Given the description of an element on the screen output the (x, y) to click on. 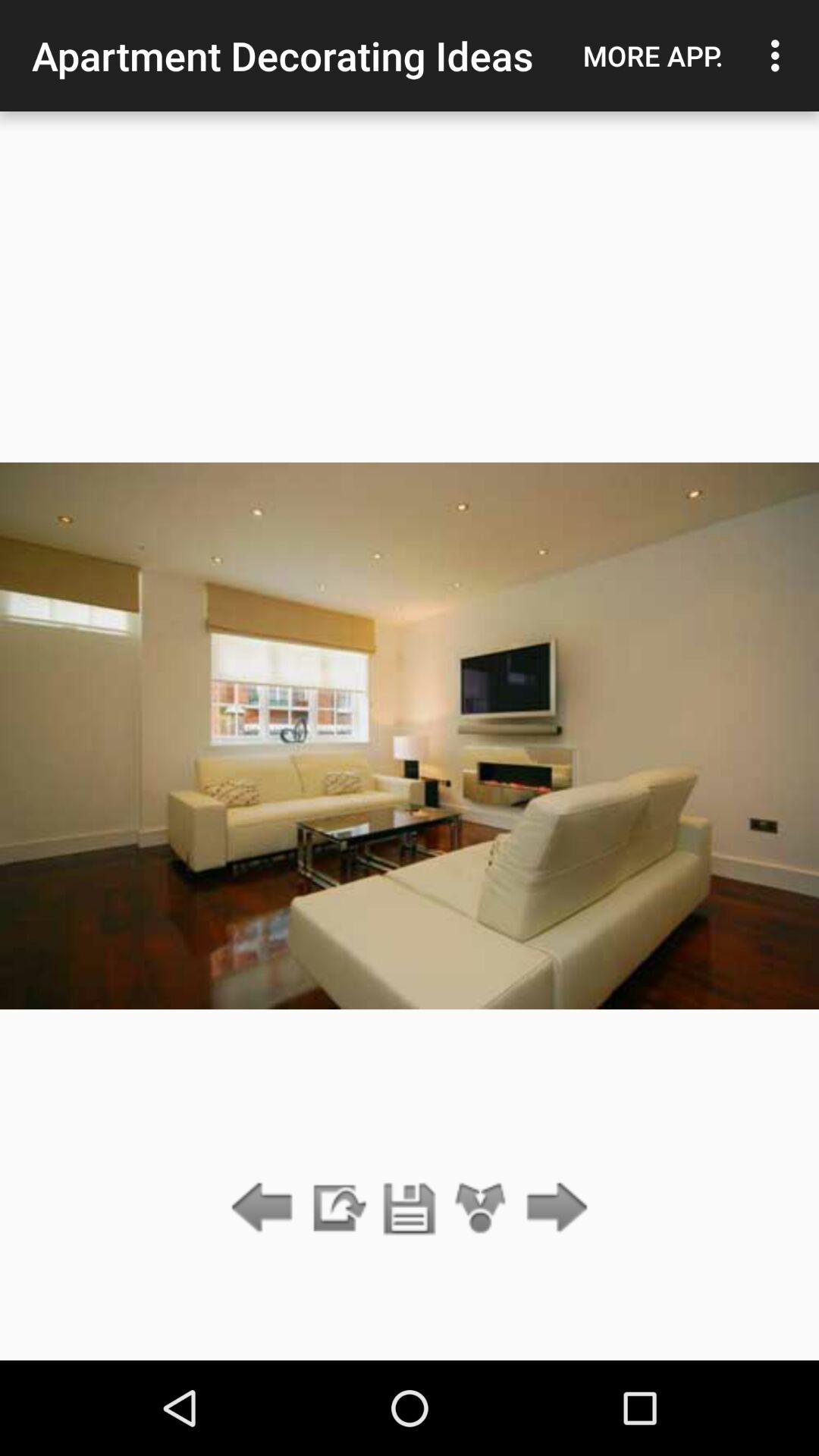
swipe to the more app. icon (653, 55)
